Given the description of an element on the screen output the (x, y) to click on. 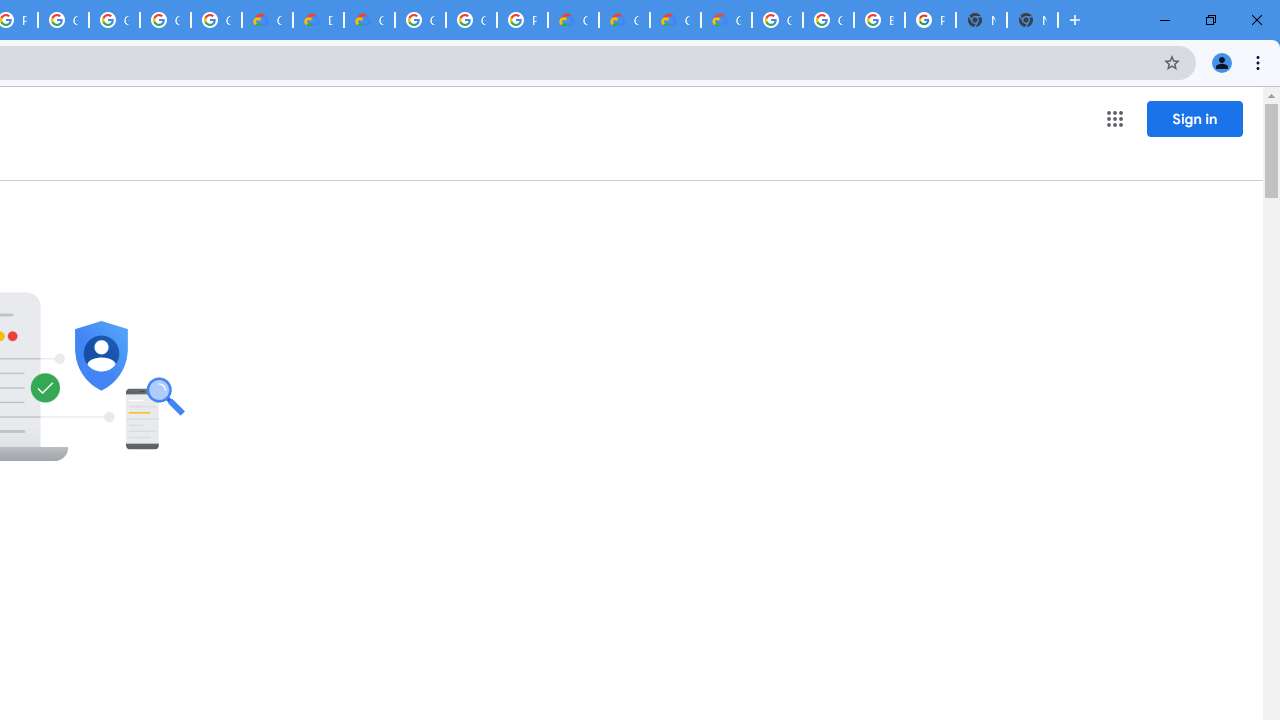
Google Cloud Service Health (726, 20)
Google Cloud Platform (470, 20)
Google Workspace - Specific Terms (215, 20)
Google Cloud Platform (827, 20)
New Tab (1032, 20)
Google Cloud Pricing Calculator (675, 20)
